Given the description of an element on the screen output the (x, y) to click on. 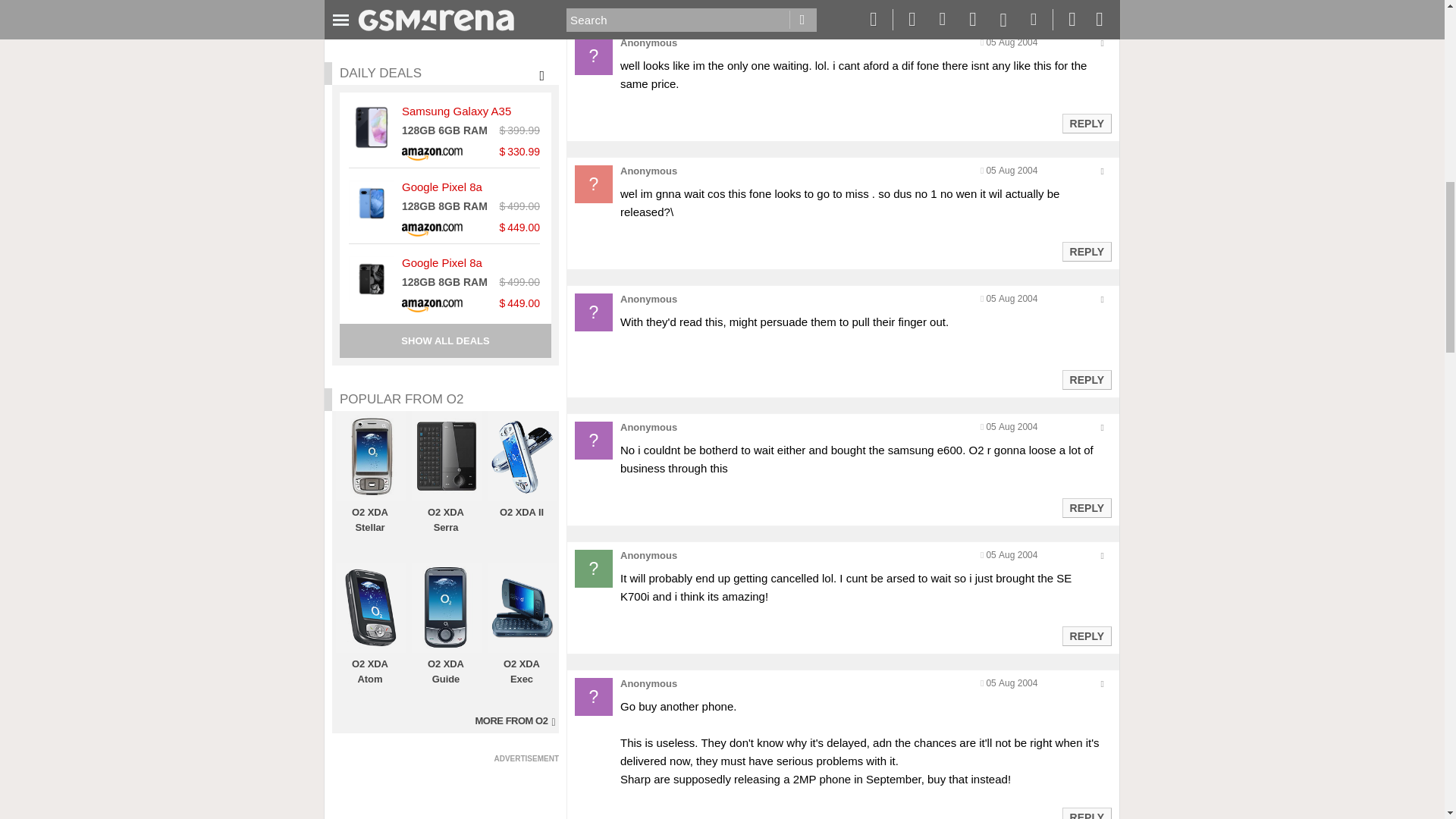
Reply to this post (1086, 379)
Reply to this post (1086, 508)
Reply to this post (1086, 251)
Reply to this post (1086, 815)
Reply to this post (1086, 0)
Reply to this post (1086, 635)
Reply to this post (1086, 123)
